Given the description of an element on the screen output the (x, y) to click on. 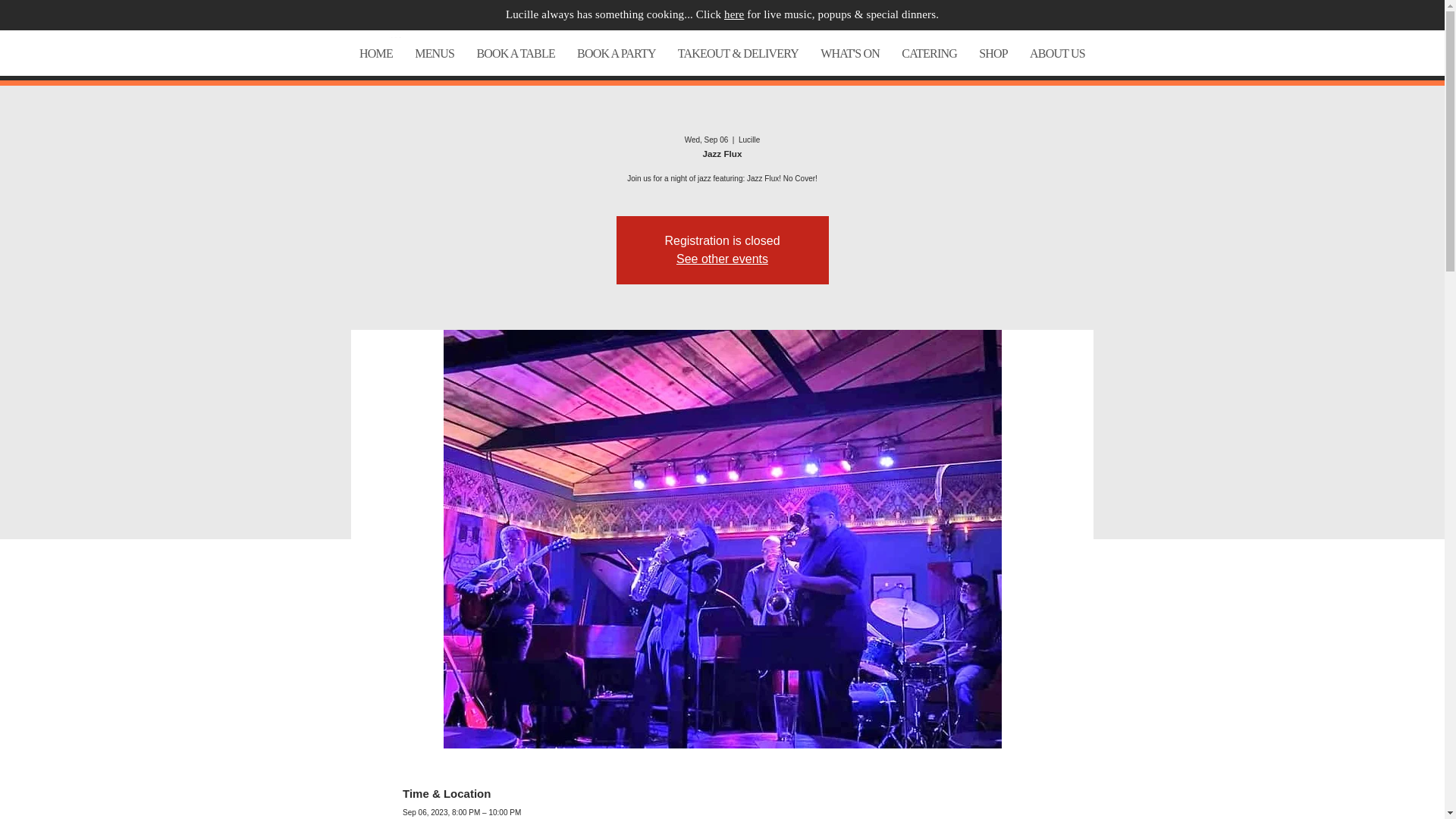
BOOK A PARTY (617, 52)
WHAT'S ON (850, 52)
here (733, 14)
CATERING (929, 52)
BOOK A TABLE (515, 52)
ABOUT US (1056, 52)
HOME (375, 52)
See other events (722, 258)
